Given the description of an element on the screen output the (x, y) to click on. 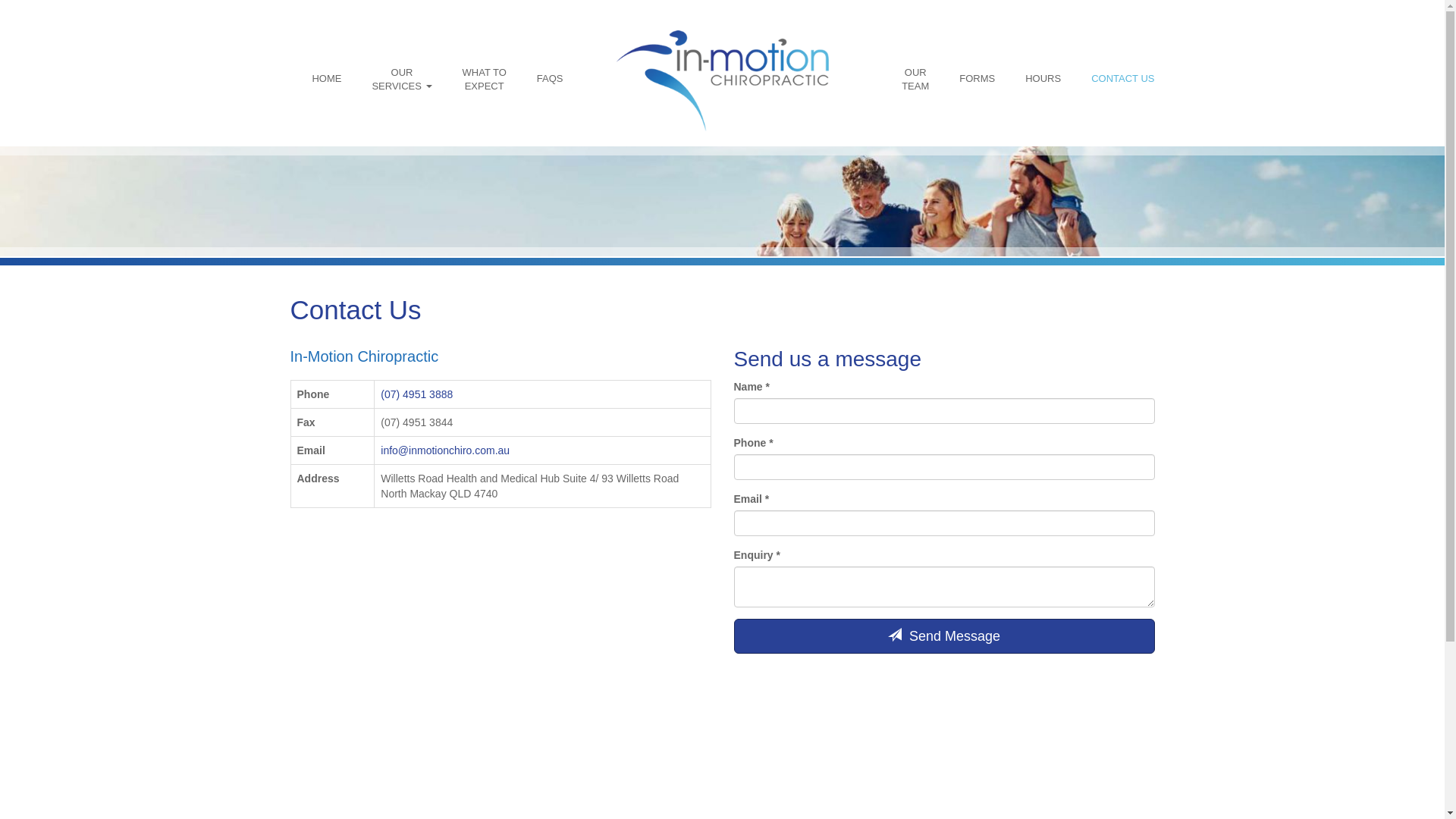
(07) 4951 3888 Element type: text (416, 394)
  Send Message Element type: text (944, 635)
FAQS Element type: text (549, 78)
CONTACT US Element type: text (1122, 78)
OUR
SERVICES Element type: text (401, 78)
OUR
TEAM Element type: text (914, 78)
WHAT TO
EXPECT Element type: text (484, 78)
HOURS Element type: text (1042, 78)
FORMS Element type: text (976, 78)
HOME Element type: text (326, 78)
info@inmotionchiro.com.au Element type: text (444, 450)
